Given the description of an element on the screen output the (x, y) to click on. 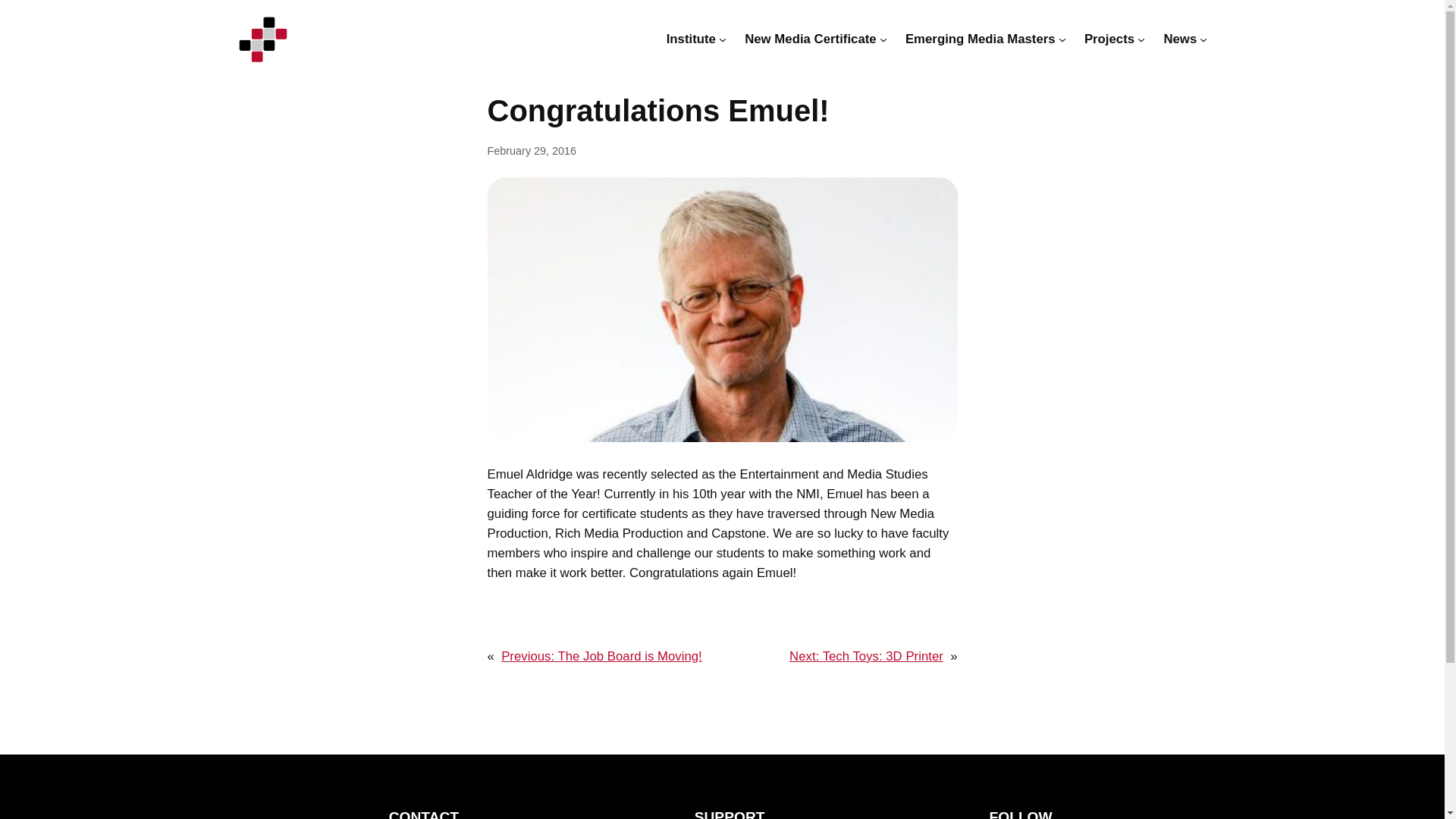
Emerging Media Masters (980, 39)
Institute (691, 39)
Previous: The Job Board is Moving! (600, 656)
New Media Certificate (810, 39)
Projects (1109, 39)
News (1179, 39)
